Given the description of an element on the screen output the (x, y) to click on. 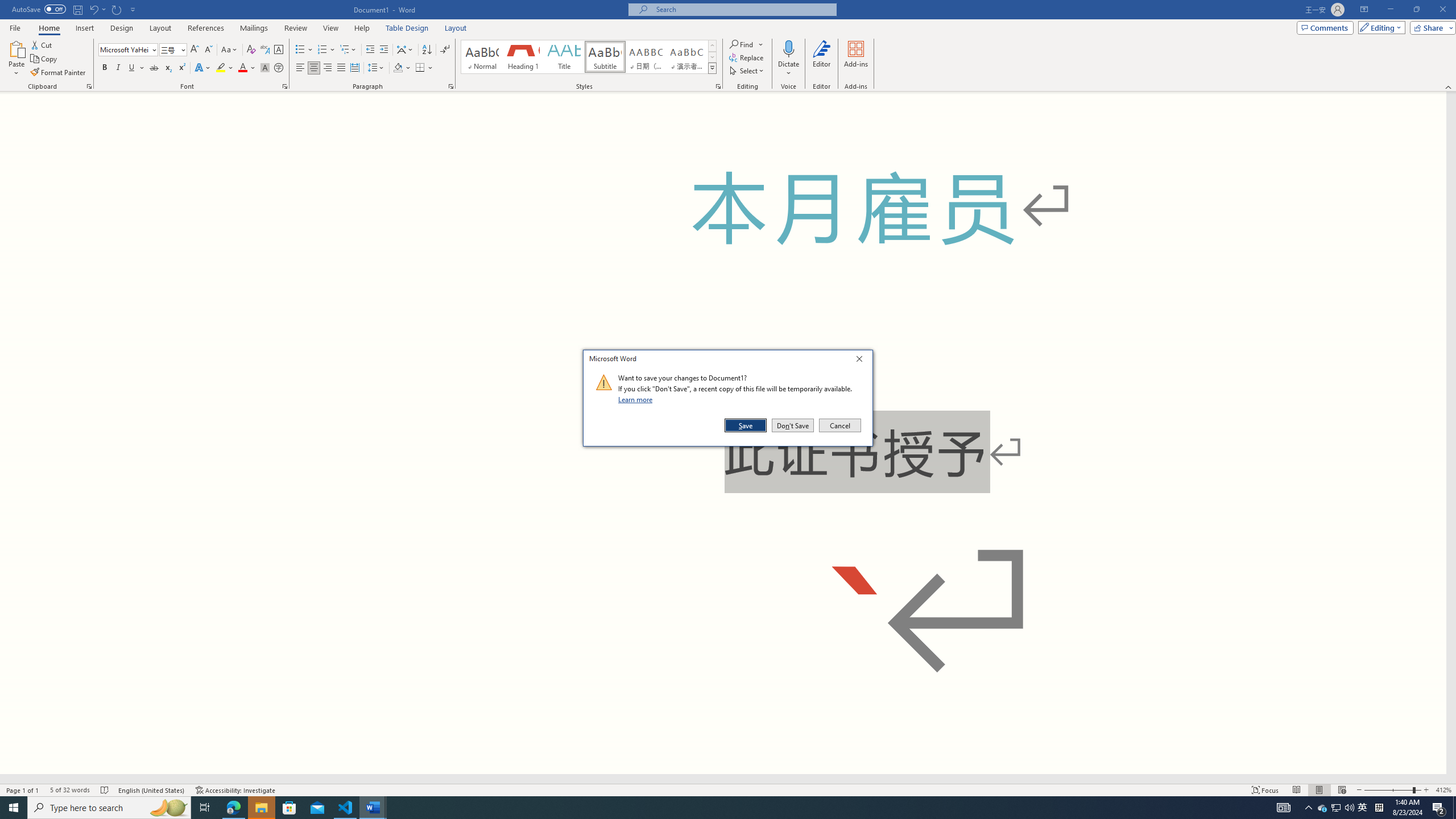
Phonetic Guide... (264, 49)
Tray Input Indicator - Chinese (Simplified, China) (1378, 807)
Increase Indent (383, 49)
Microsoft search (742, 9)
Row Down (711, 56)
Office Clipboard... (88, 85)
Repeat Doc Close (117, 9)
Type here to search (108, 807)
